Given the description of an element on the screen output the (x, y) to click on. 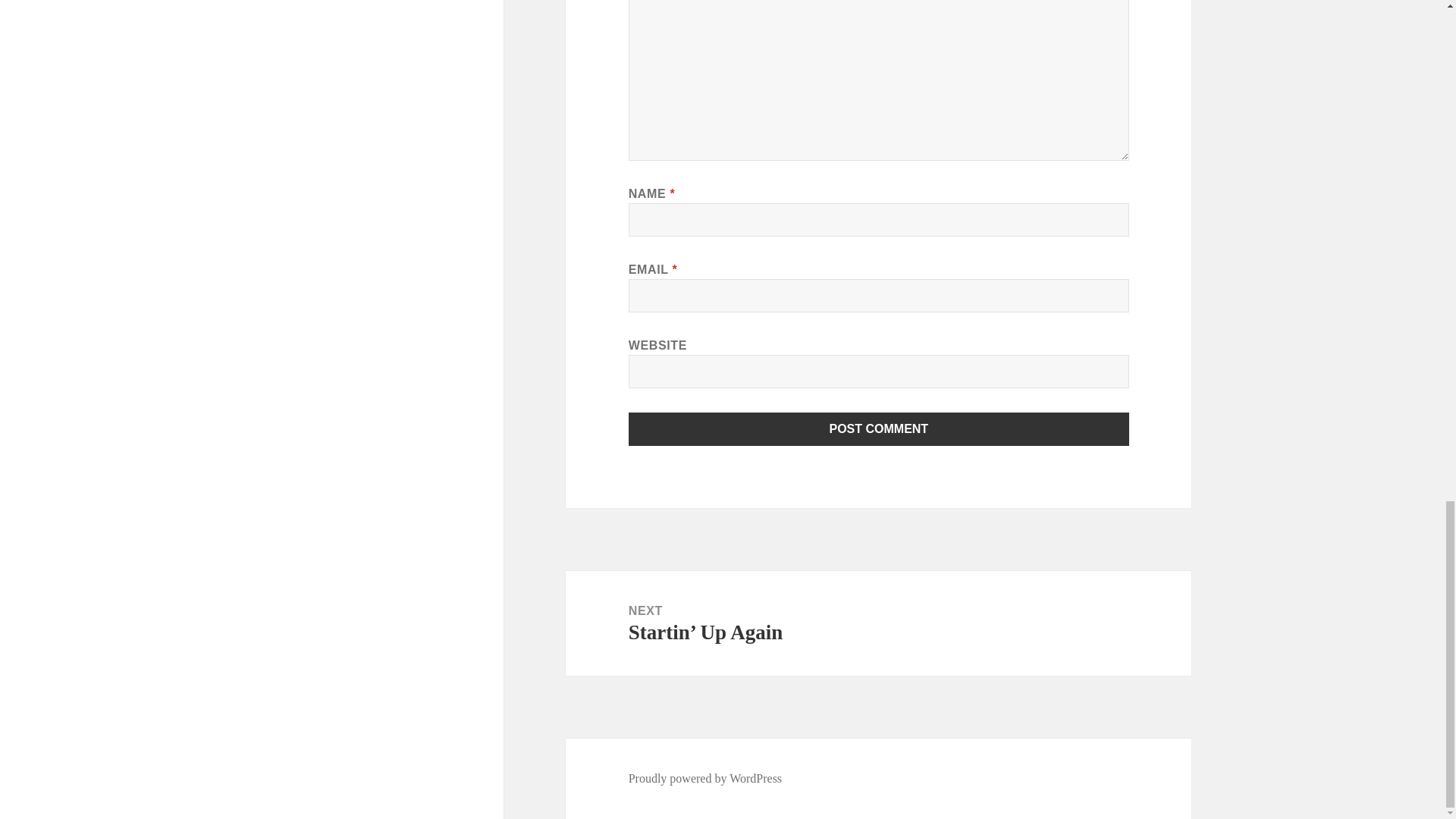
Post Comment (878, 428)
Proudly powered by WordPress (704, 778)
Post Comment (878, 428)
